Given the description of an element on the screen output the (x, y) to click on. 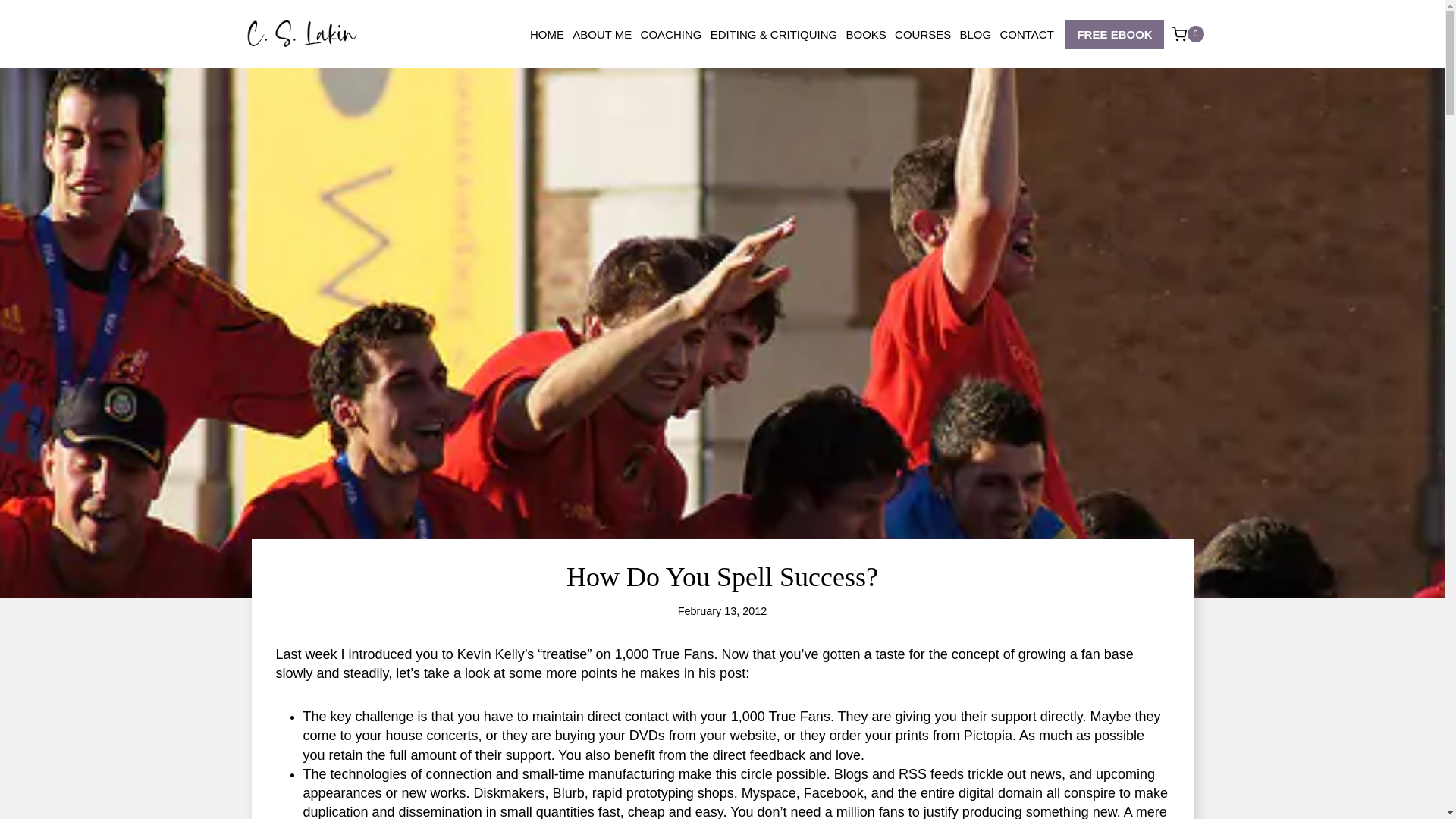
0 (1188, 33)
COACHING (671, 33)
FREE EBOOK (1114, 34)
BLOG (975, 33)
COURSES (922, 33)
HOME (546, 33)
ABOUT ME (602, 33)
BOOKS (866, 33)
CONTACT (1026, 33)
